Given the description of an element on the screen output the (x, y) to click on. 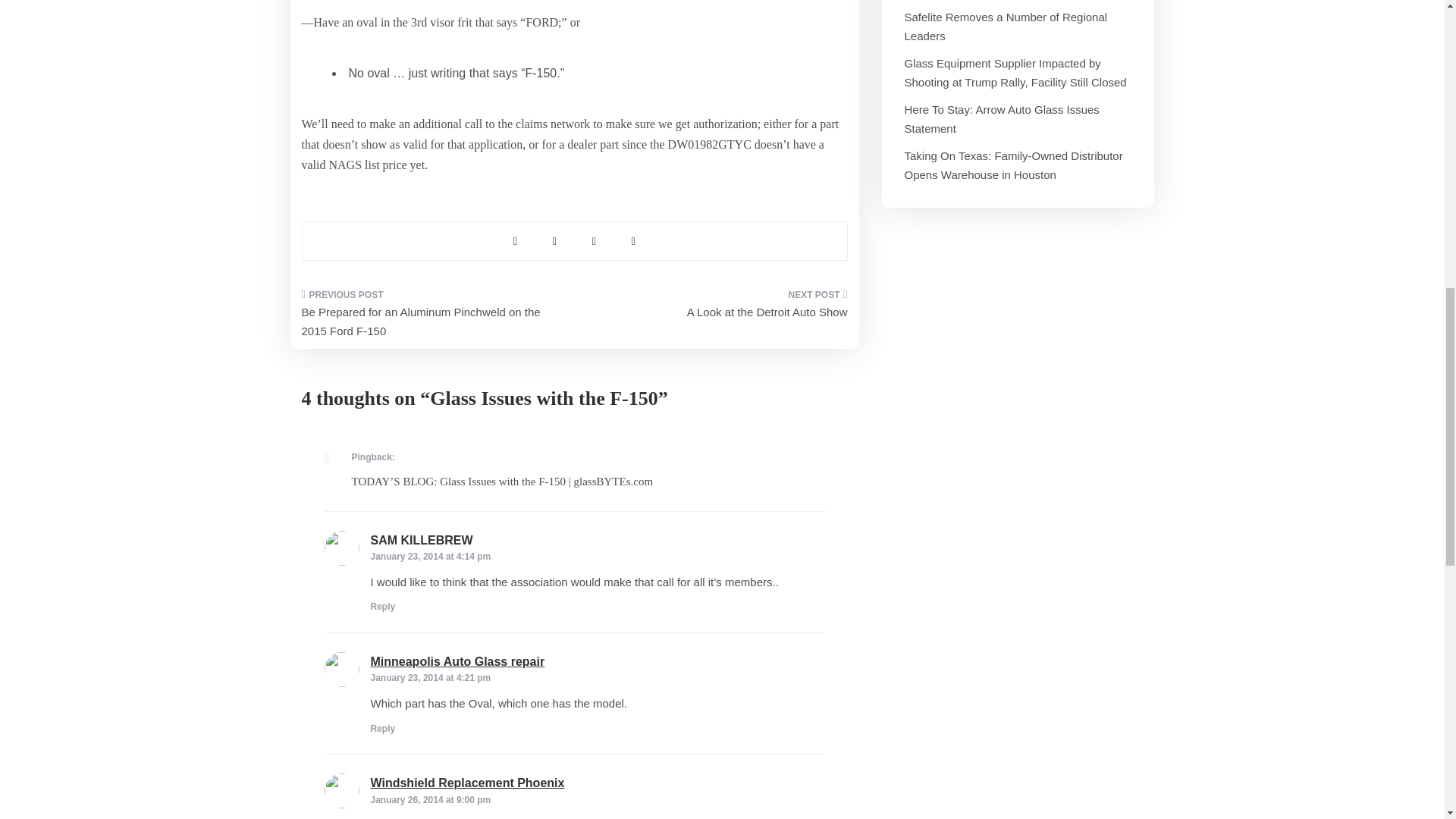
Reply (381, 728)
Windshield Replacement Phoenix (466, 782)
A Look at the Detroit Auto Show (716, 307)
Reply (381, 606)
Be Prepared for an Aluminum Pinchweld on the 2015 Ford F-150 (432, 317)
January 26, 2014 at 9:00 pm (429, 799)
January 23, 2014 at 4:14 pm (429, 556)
Minneapolis Auto Glass repair (456, 661)
January 23, 2014 at 4:21 pm (429, 677)
